Given the description of an element on the screen output the (x, y) to click on. 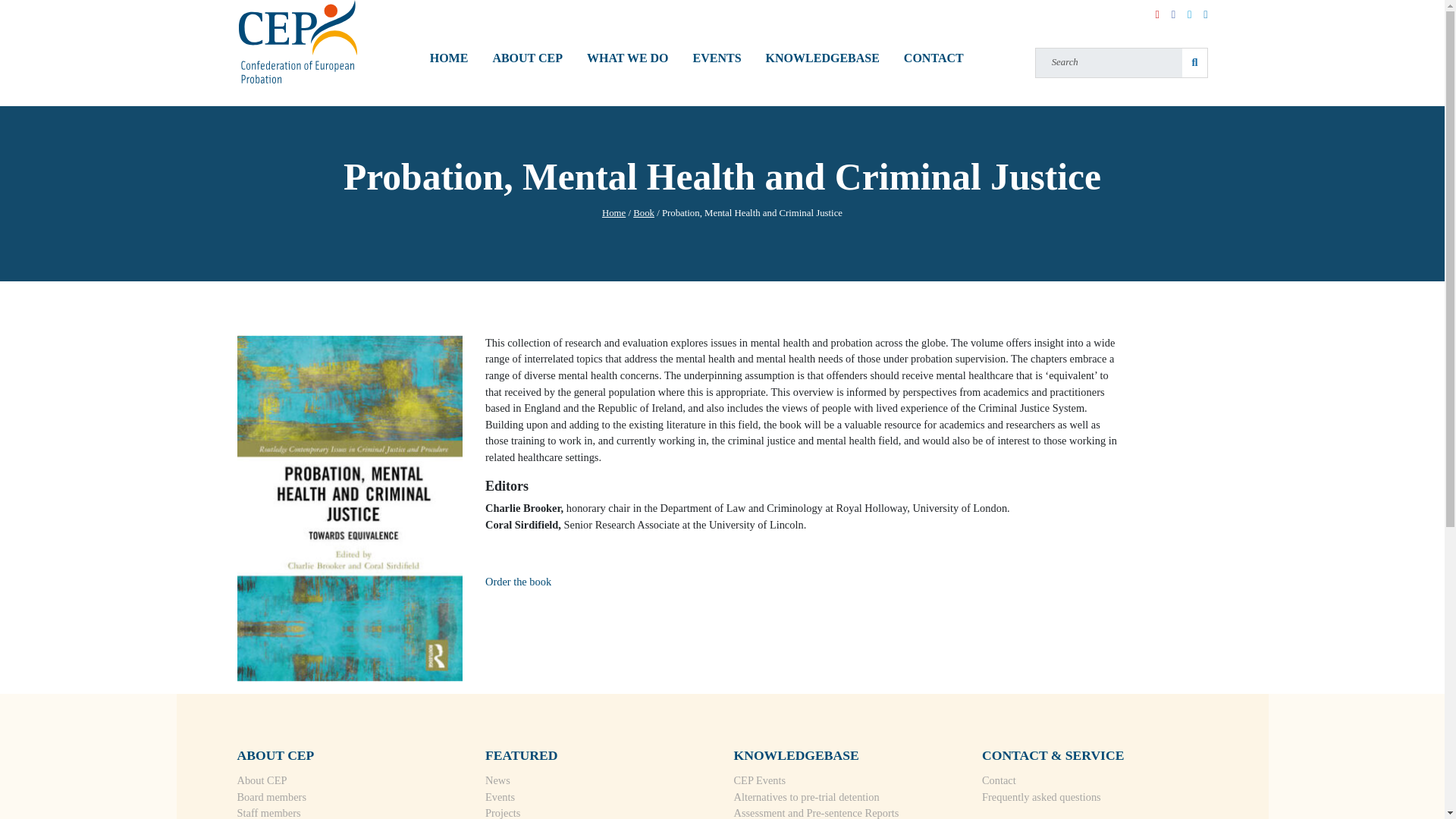
Staff members (267, 812)
Projects (501, 812)
News (497, 779)
WHAT WE DO (628, 41)
Order the book (517, 581)
ABOUT CEP (527, 41)
Book (643, 213)
About CEP (260, 779)
CEP Probation (296, 42)
Board members (270, 797)
